Given the description of an element on the screen output the (x, y) to click on. 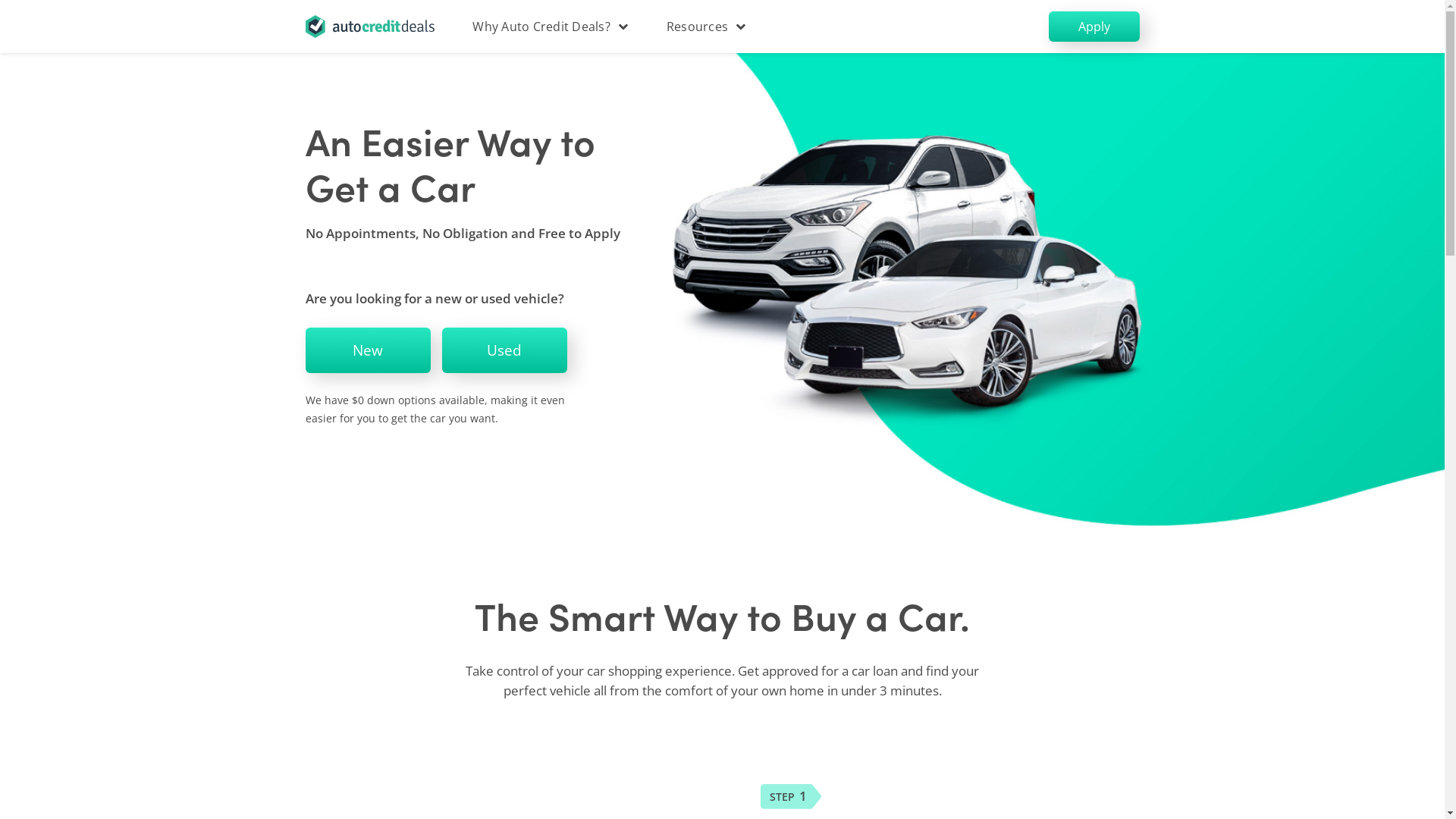
Used Element type: text (503, 350)
Apply Element type: text (1093, 26)
New Element type: text (366, 350)
Resources Element type: text (705, 26)
Why Auto Credit Deals? Element type: text (549, 26)
